Given the description of an element on the screen output the (x, y) to click on. 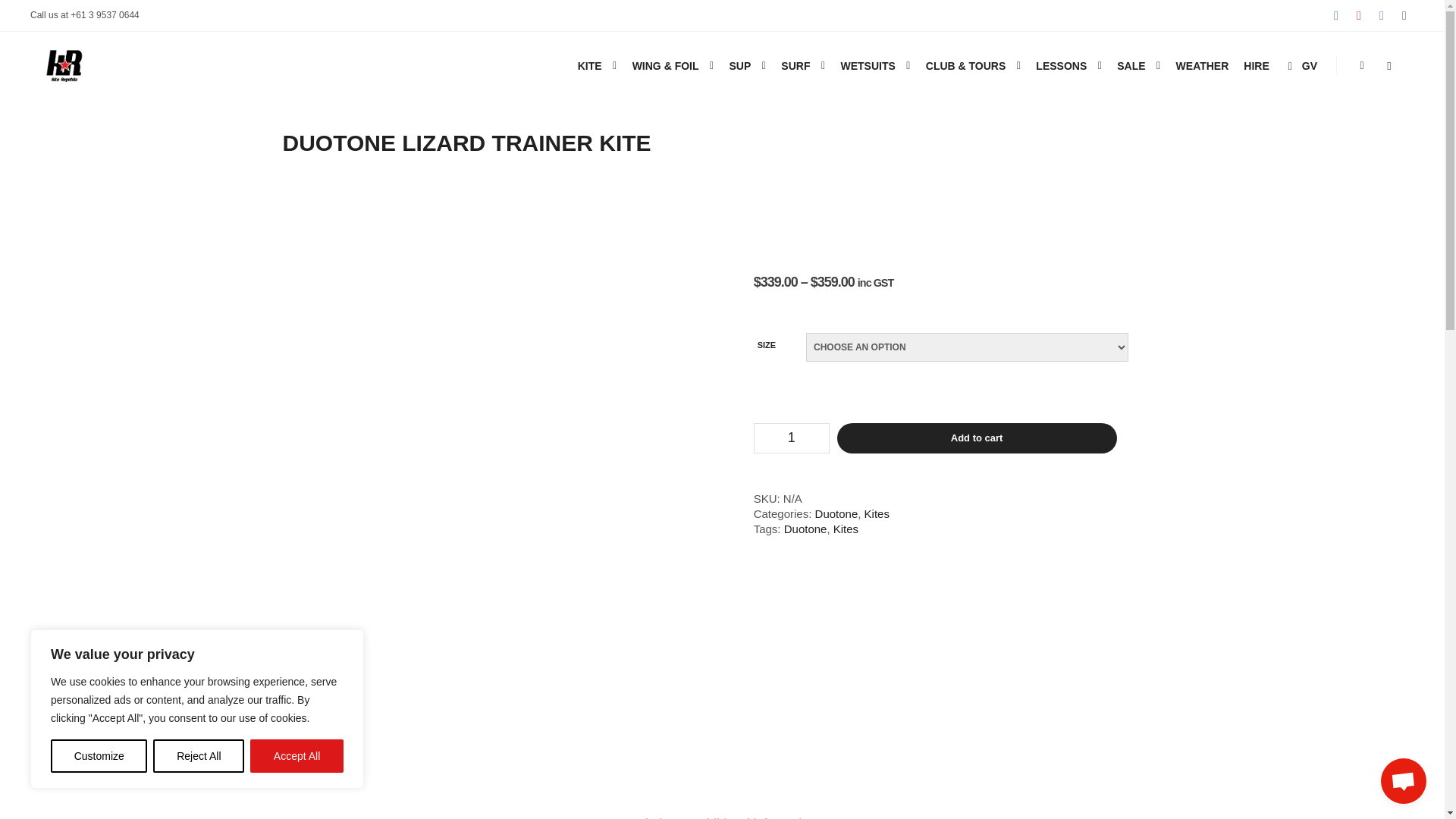
YouTube Element type: hover (1358, 15)
Customize Element type: text (98, 755)
Instagram Element type: hover (1336, 15)
GV Element type: text (1300, 65)
Kite Republic Element type: hover (30, 134)
Duotone Element type: text (805, 528)
Kite Republic Element type: hover (64, 65)
WETSUITS Element type: text (864, 65)
CLUB & TOURS Element type: text (963, 65)
Reject All Element type: text (198, 755)
SUP Element type: text (737, 65)
Shop sidebar Element type: text (1361, 65)
LESSONS Element type: text (1058, 65)
SURF Element type: text (792, 65)
Facebook Element type: hover (1381, 15)
WEATHER Element type: text (1202, 65)
Duotone Element type: text (836, 513)
Accept All Element type: text (296, 755)
HIRE Element type: text (1256, 65)
Add to cart Element type: text (977, 438)
WING & FOIL Element type: text (663, 65)
Kites Element type: text (845, 528)
Kites Element type: text (876, 513)
Call us at +61 3 9537 0644 Element type: text (84, 14)
Search Element type: text (1388, 65)
KITE Element type: text (587, 65)
SALE Element type: text (1128, 65)
E-mail Element type: hover (1404, 15)
